Given the description of an element on the screen output the (x, y) to click on. 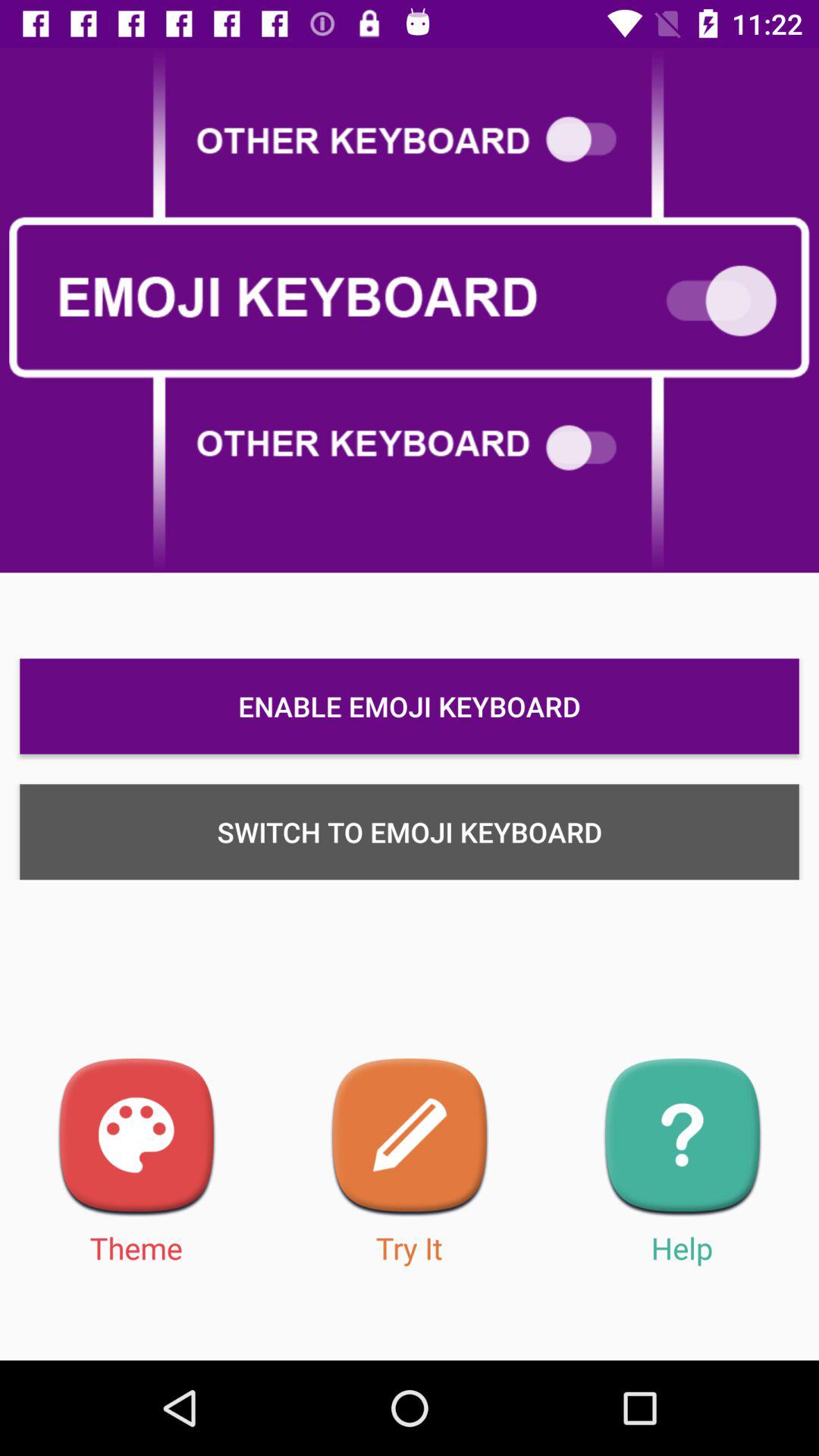
theme selection menu (136, 1137)
